Given the description of an element on the screen output the (x, y) to click on. 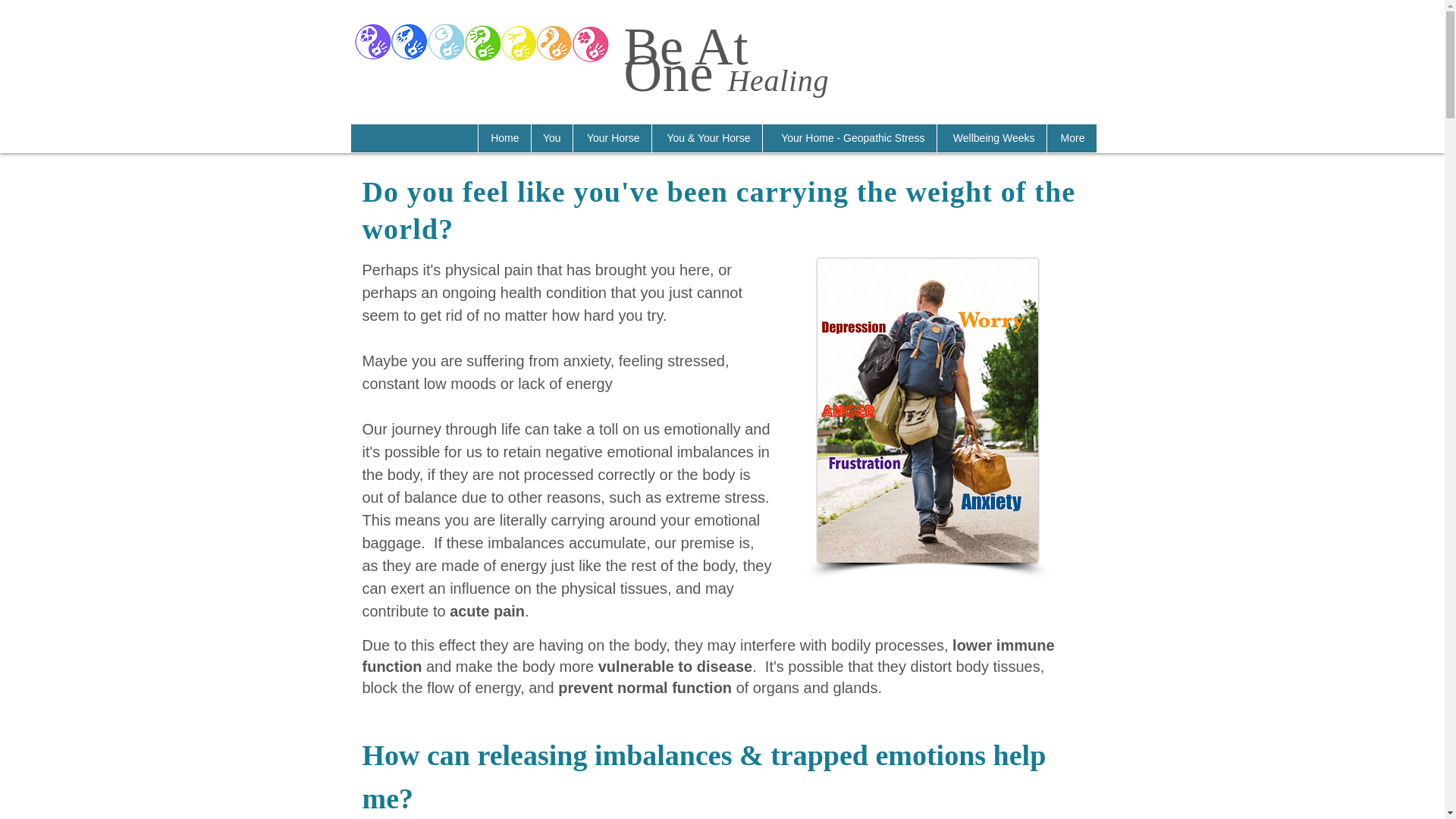
Home (504, 138)
Your Horse (611, 138)
